Given the description of an element on the screen output the (x, y) to click on. 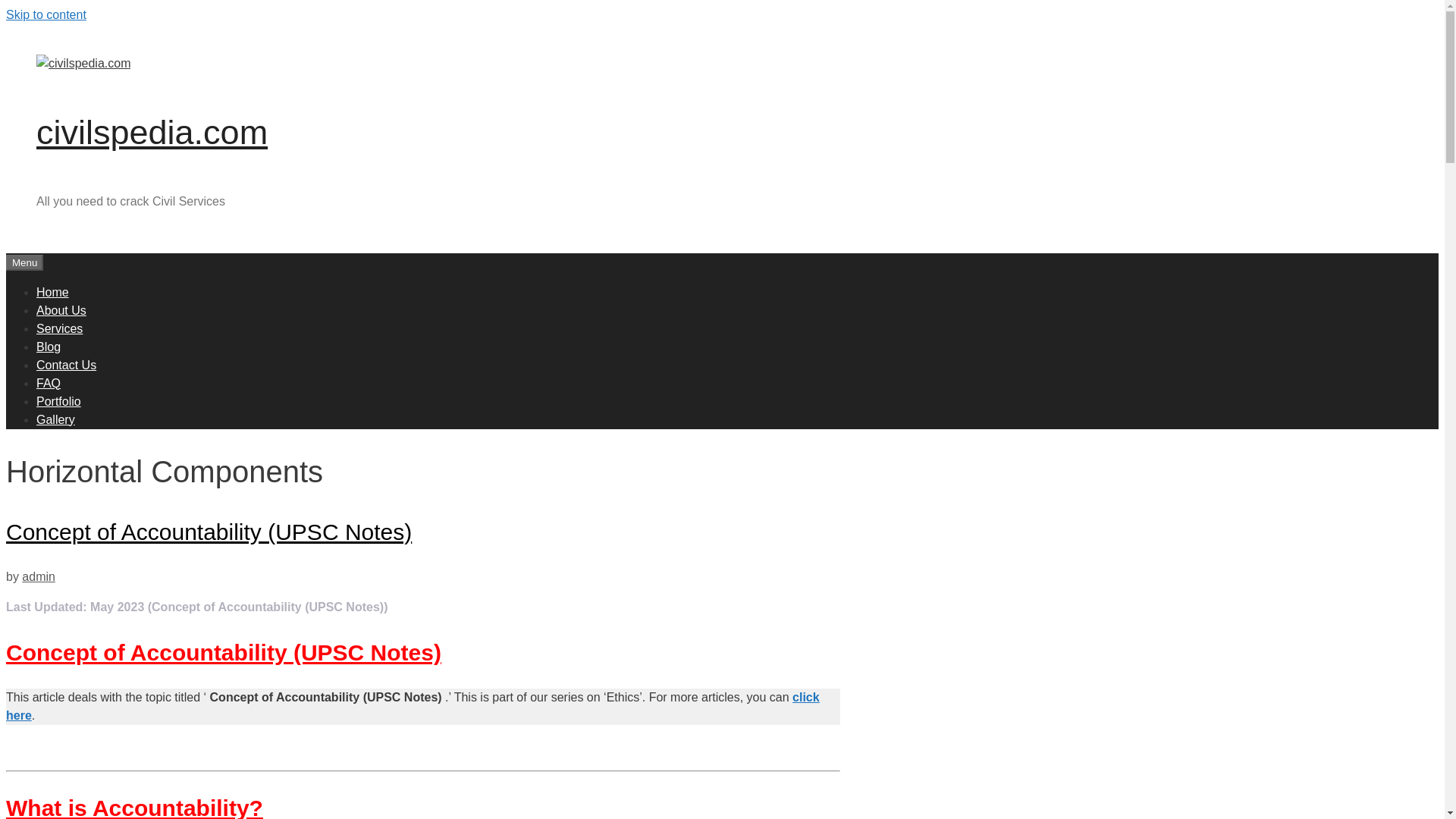
Menu (24, 262)
Skip to content (45, 14)
civilspedia.com (83, 62)
Portfolio (58, 400)
admin (38, 576)
About Us (60, 309)
FAQ (48, 382)
civilspedia.com (151, 132)
Contact Us (66, 364)
civilspedia.com (83, 63)
View all posts by admin (38, 576)
Gallery (55, 418)
Home (52, 291)
Skip to content (45, 14)
Services (59, 327)
